Given the description of an element on the screen output the (x, y) to click on. 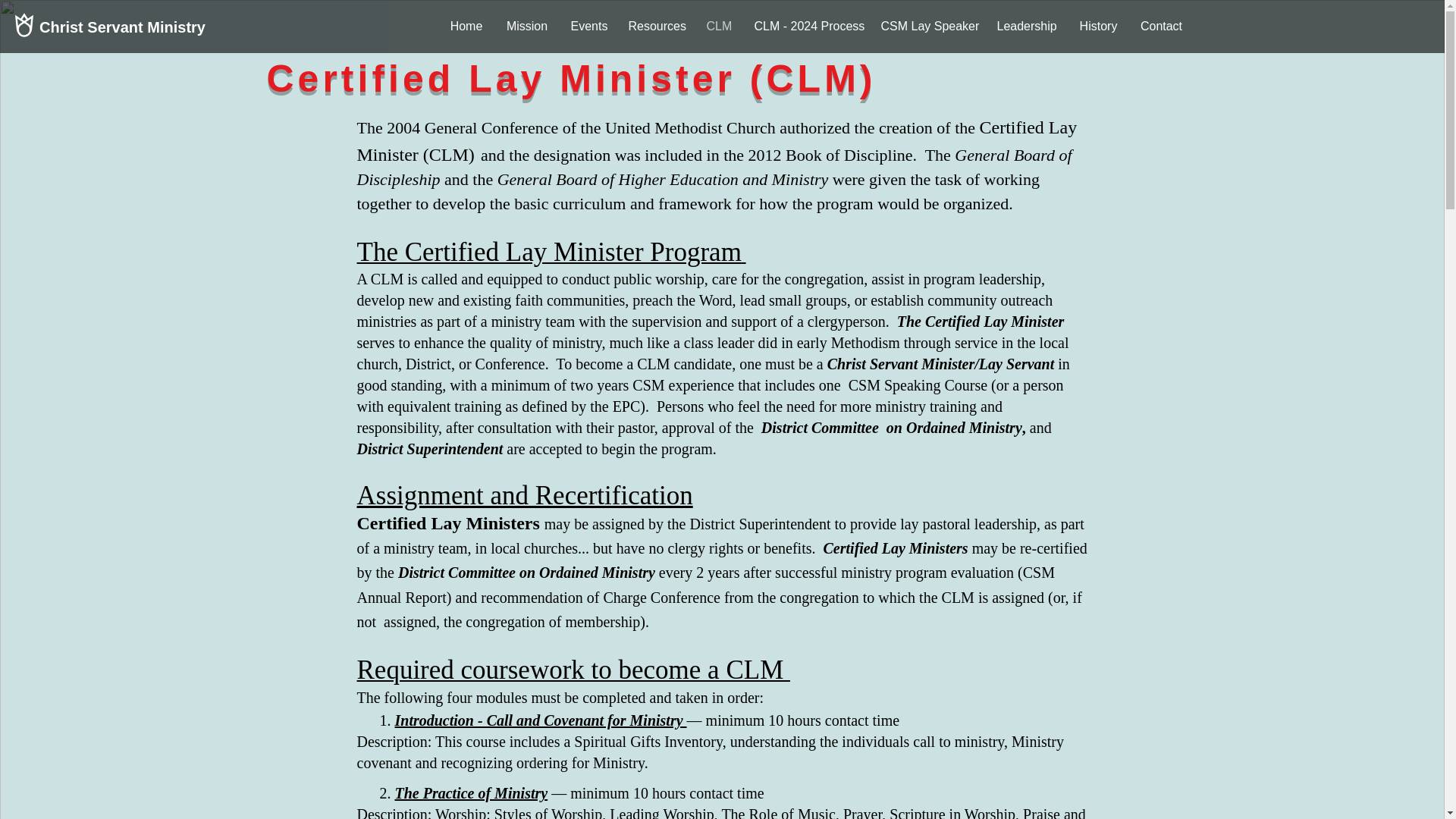
Home (466, 26)
Mission (527, 26)
Christ Servant Ministry (122, 26)
CLM (718, 26)
History (1097, 26)
Resources (656, 26)
Leadership (1026, 26)
CSM Lay Speaker (927, 26)
Events (588, 26)
CLM - 2024 Process (805, 26)
